Given the description of an element on the screen output the (x, y) to click on. 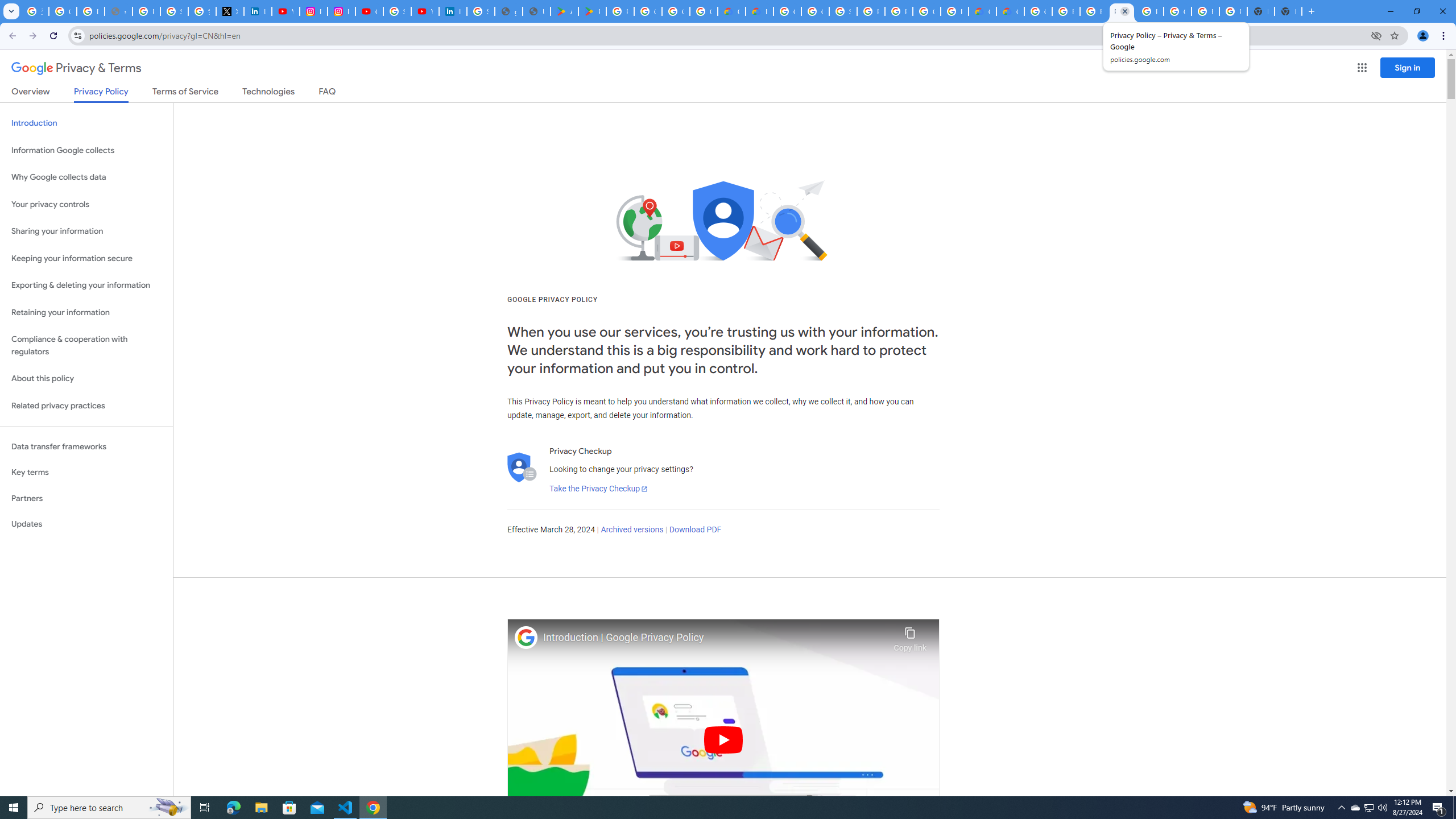
google_privacy_policy_en.pdf (508, 11)
Related privacy practices (86, 405)
Key terms (86, 472)
User Details (536, 11)
Download PDF (695, 529)
Google Cloud Platform (787, 11)
